Given the description of an element on the screen output the (x, y) to click on. 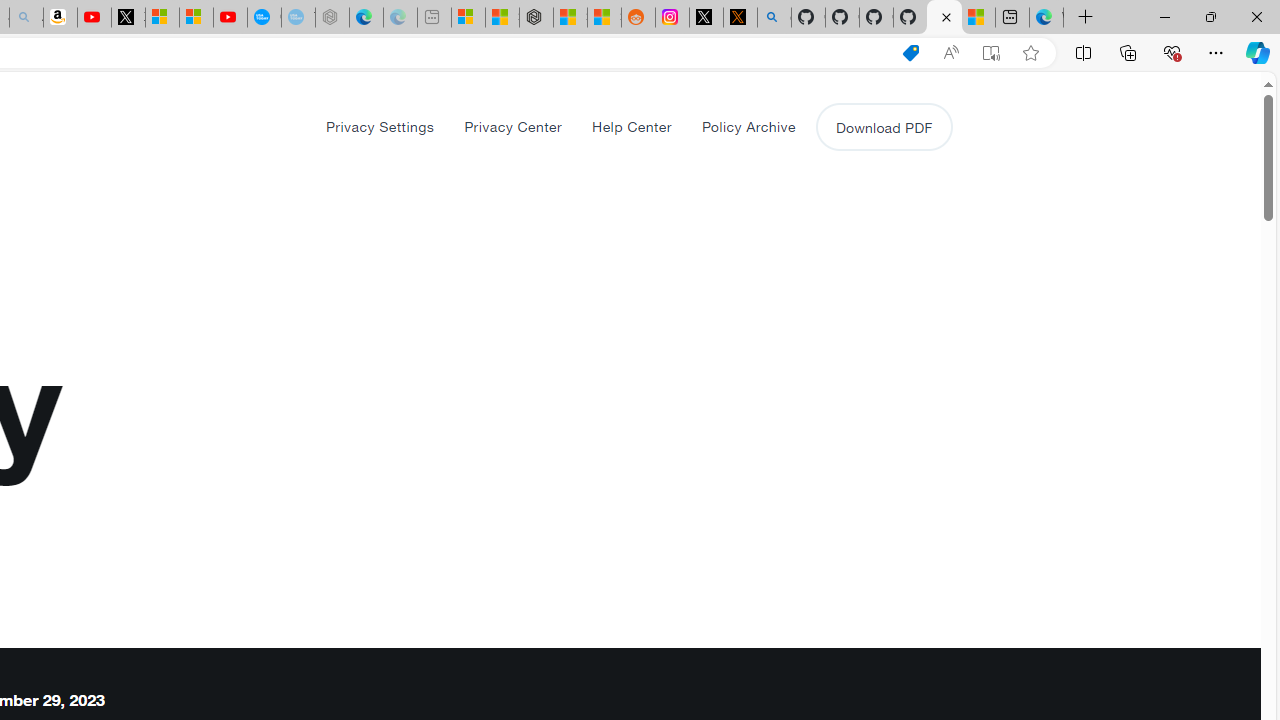
Download PDF (884, 126)
Nordace - Nordace has arrived Hong Kong - Sleeping (332, 17)
Opinion: Op-Ed and Commentary - USA TODAY (264, 17)
Microsoft account | Microsoft Account Privacy Settings (468, 17)
